Given the description of an element on the screen output the (x, y) to click on. 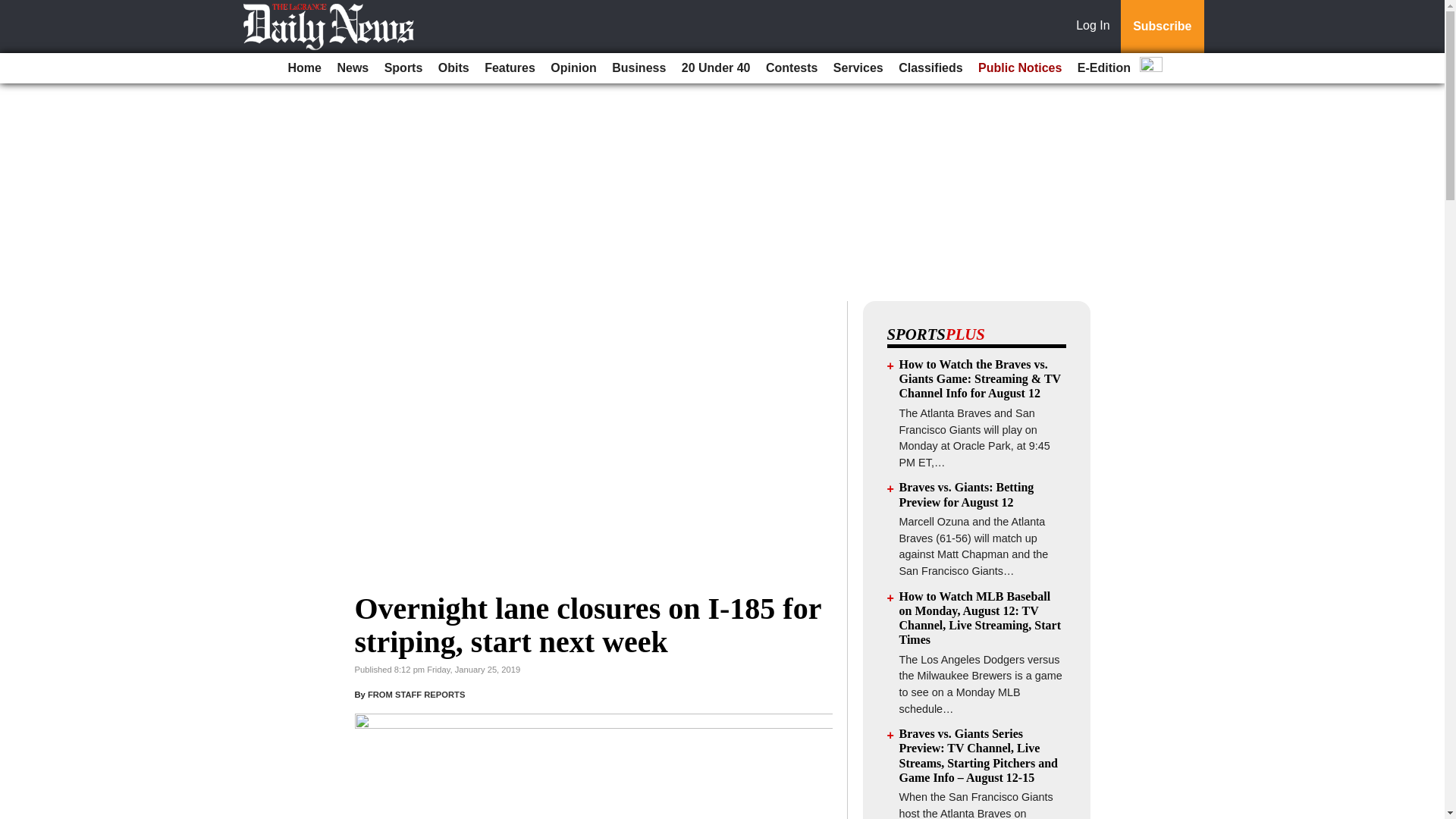
News (352, 68)
Home (304, 68)
Features (510, 68)
E-Edition (1104, 68)
Public Notices (1019, 68)
Braves vs. Giants: Betting Preview for August 12 (966, 493)
Obits (454, 68)
Classifieds (930, 68)
20 Under 40 (716, 68)
